Given the description of an element on the screen output the (x, y) to click on. 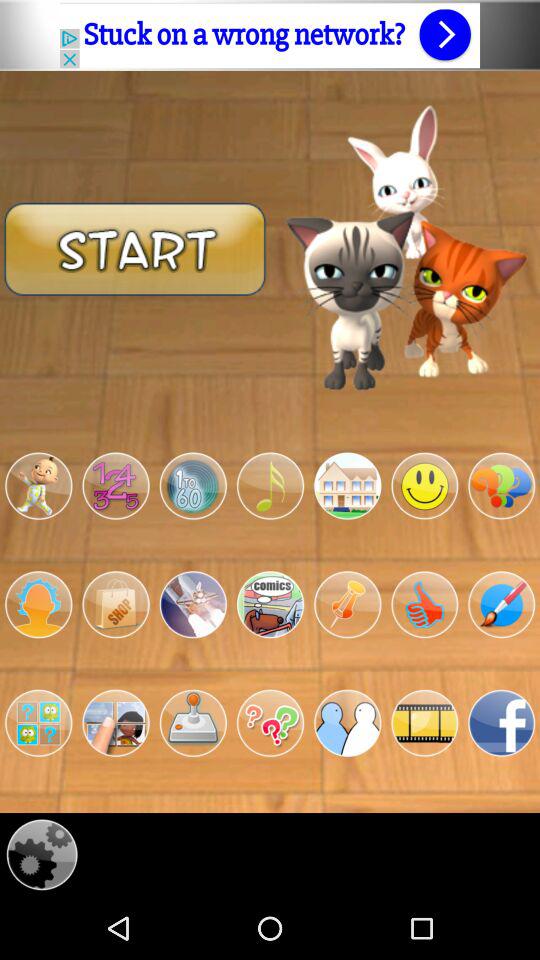
open advertisement (270, 35)
